Given the description of an element on the screen output the (x, y) to click on. 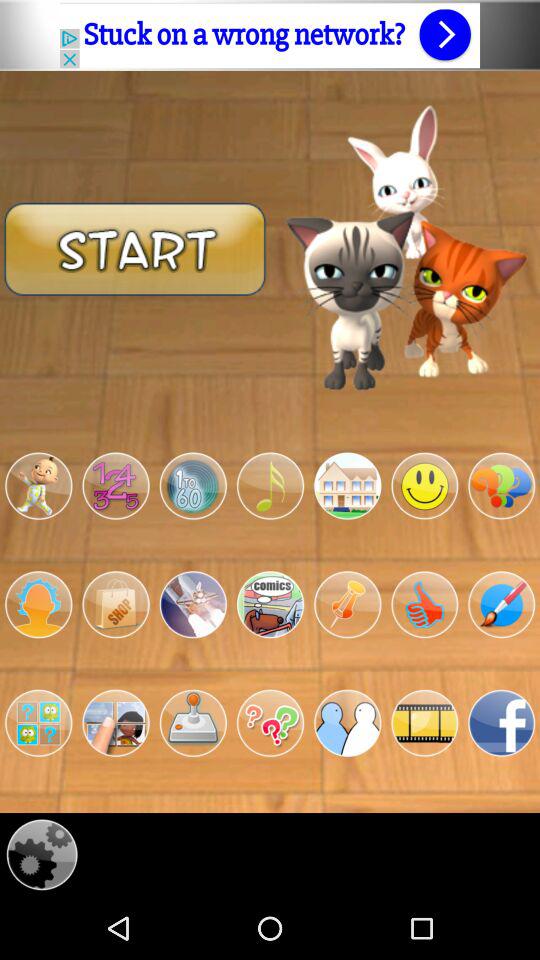
open advertisement (270, 35)
